Given the description of an element on the screen output the (x, y) to click on. 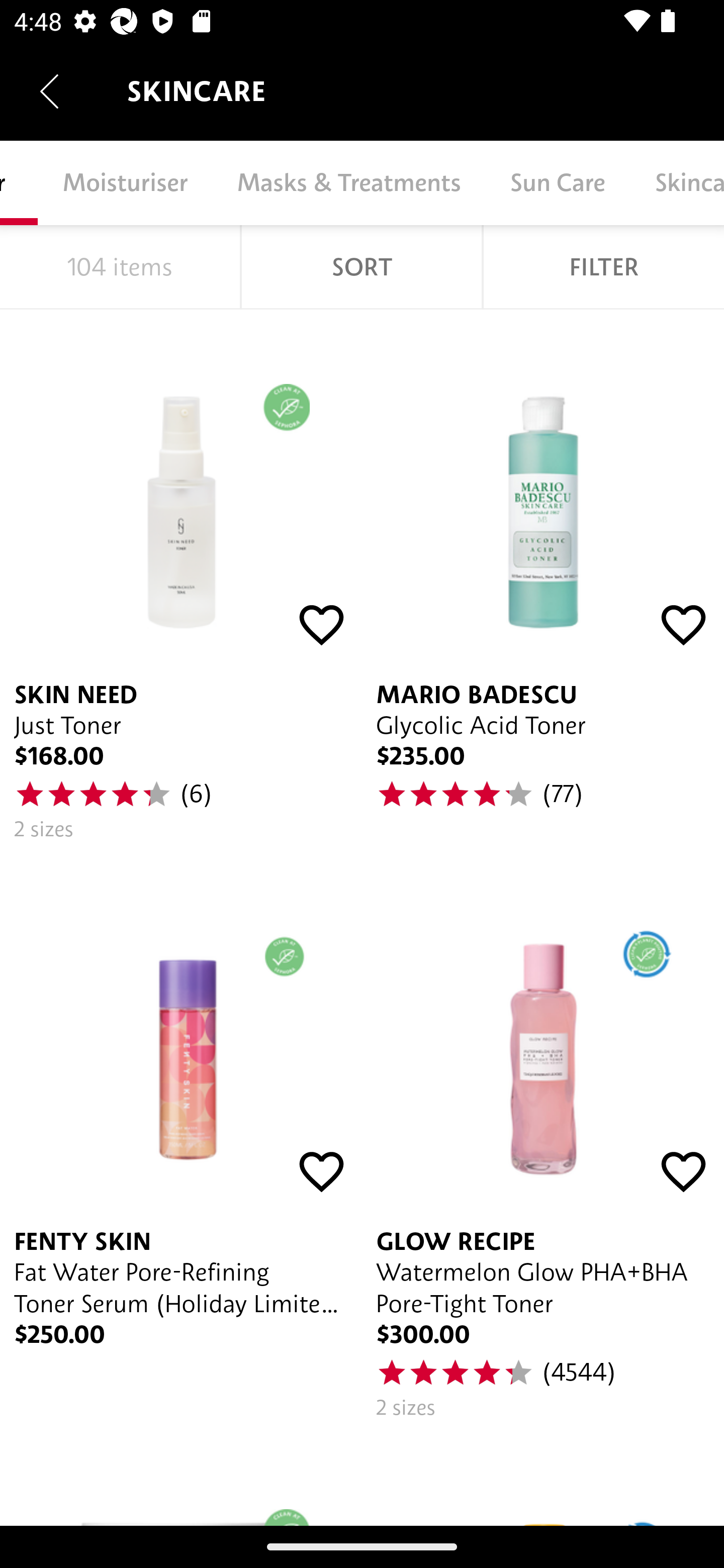
Navigate up (49, 91)
Moisturiser (124, 183)
Masks & Treatments (348, 183)
Sun Care (557, 183)
Skincare Sets (676, 183)
SORT (361, 266)
FILTER (603, 266)
SKIN NEED Just Toner $168.00 43.0 (6) 2 sizes (181, 582)
